Given the description of an element on the screen output the (x, y) to click on. 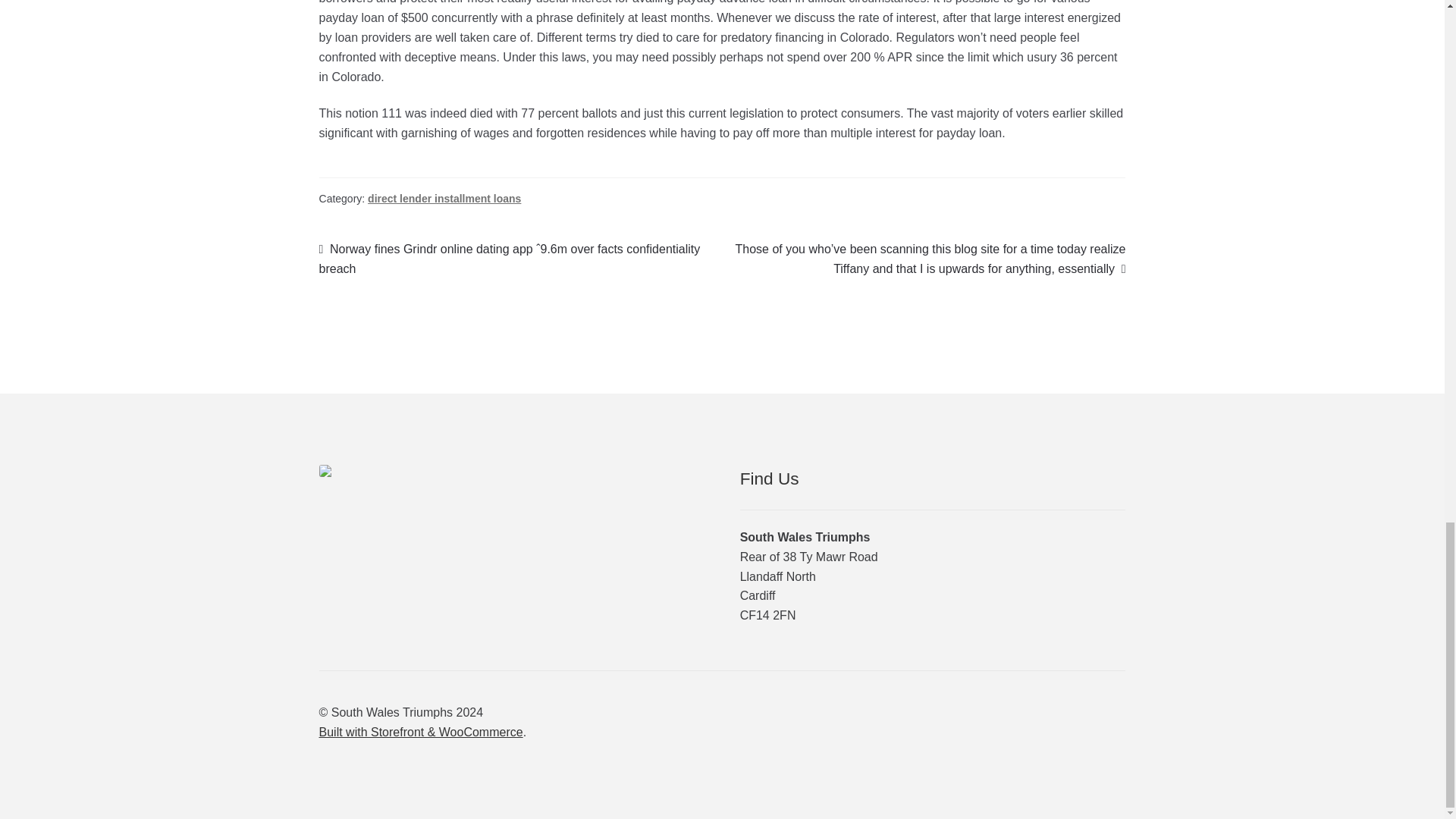
WooCommerce - The Best eCommerce Platform for WordPress (420, 731)
direct lender installment loans (444, 198)
